Given the description of an element on the screen output the (x, y) to click on. 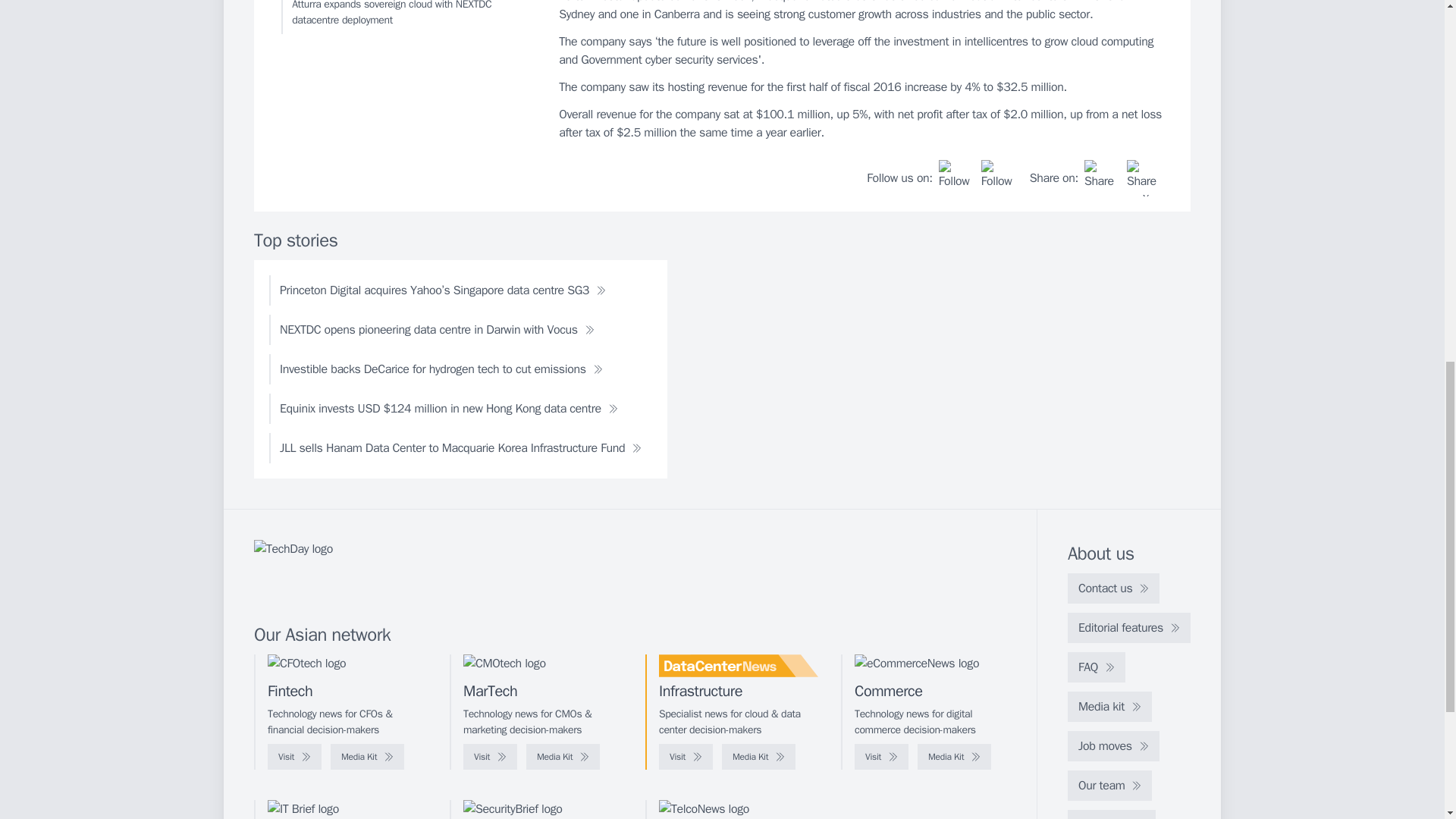
Media Kit (367, 756)
Visit (489, 756)
NEXTDC opens pioneering data centre in Darwin with Vocus (437, 329)
Visit (294, 756)
Visit (881, 756)
Investible backs DeCarice for hydrogen tech to cut emissions (440, 368)
Media Kit (758, 756)
Media Kit (562, 756)
